Given the description of an element on the screen output the (x, y) to click on. 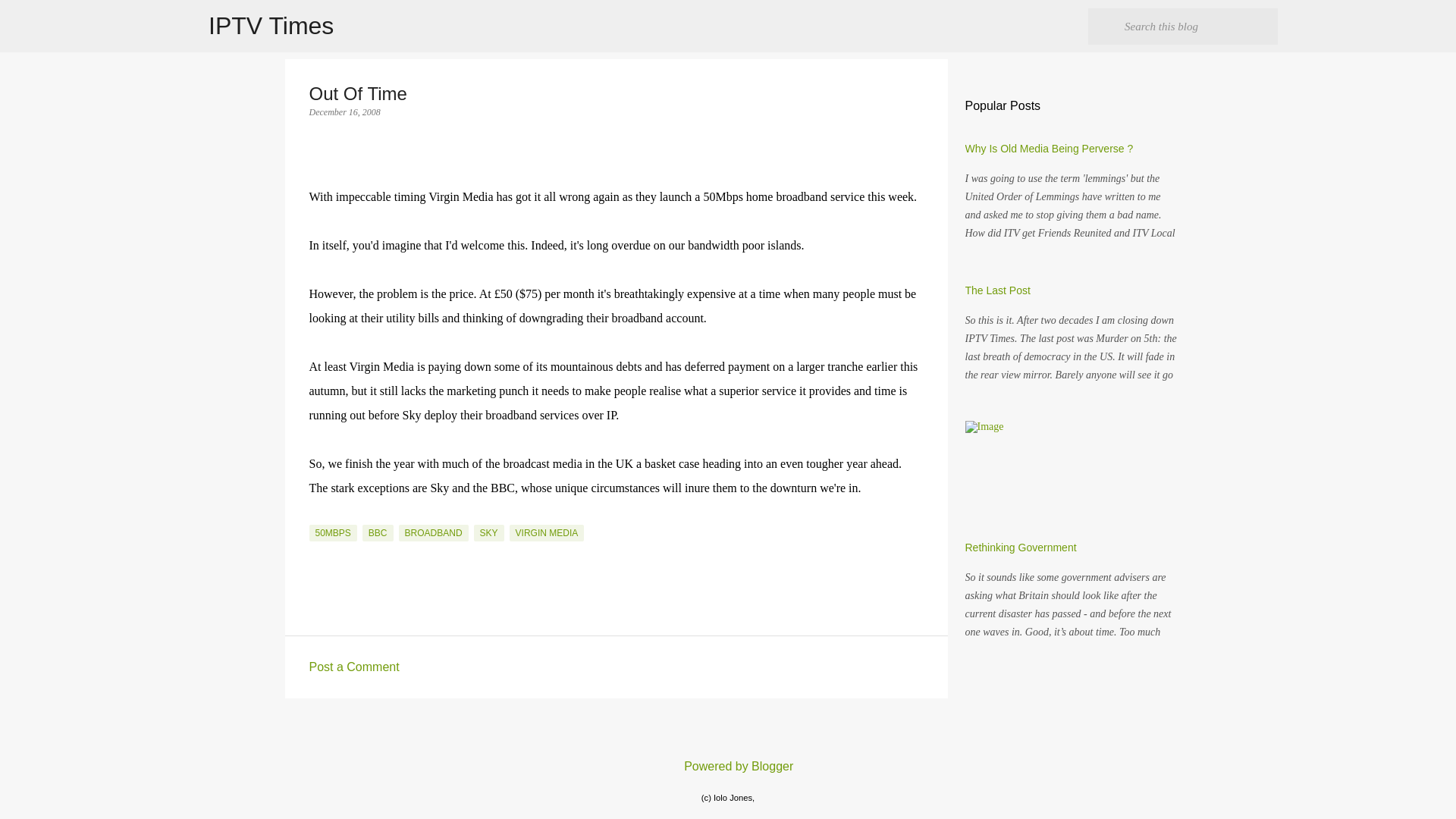
Email Post (317, 515)
December 16, 2008 (344, 112)
BROADBAND (433, 532)
SKY (488, 532)
Powered by Blogger (727, 766)
Rethinking Government (1019, 547)
50MBPS (332, 532)
VIRGIN MEDIA (547, 532)
Post a Comment (353, 666)
IPTV Times (270, 25)
